Given the description of an element on the screen output the (x, y) to click on. 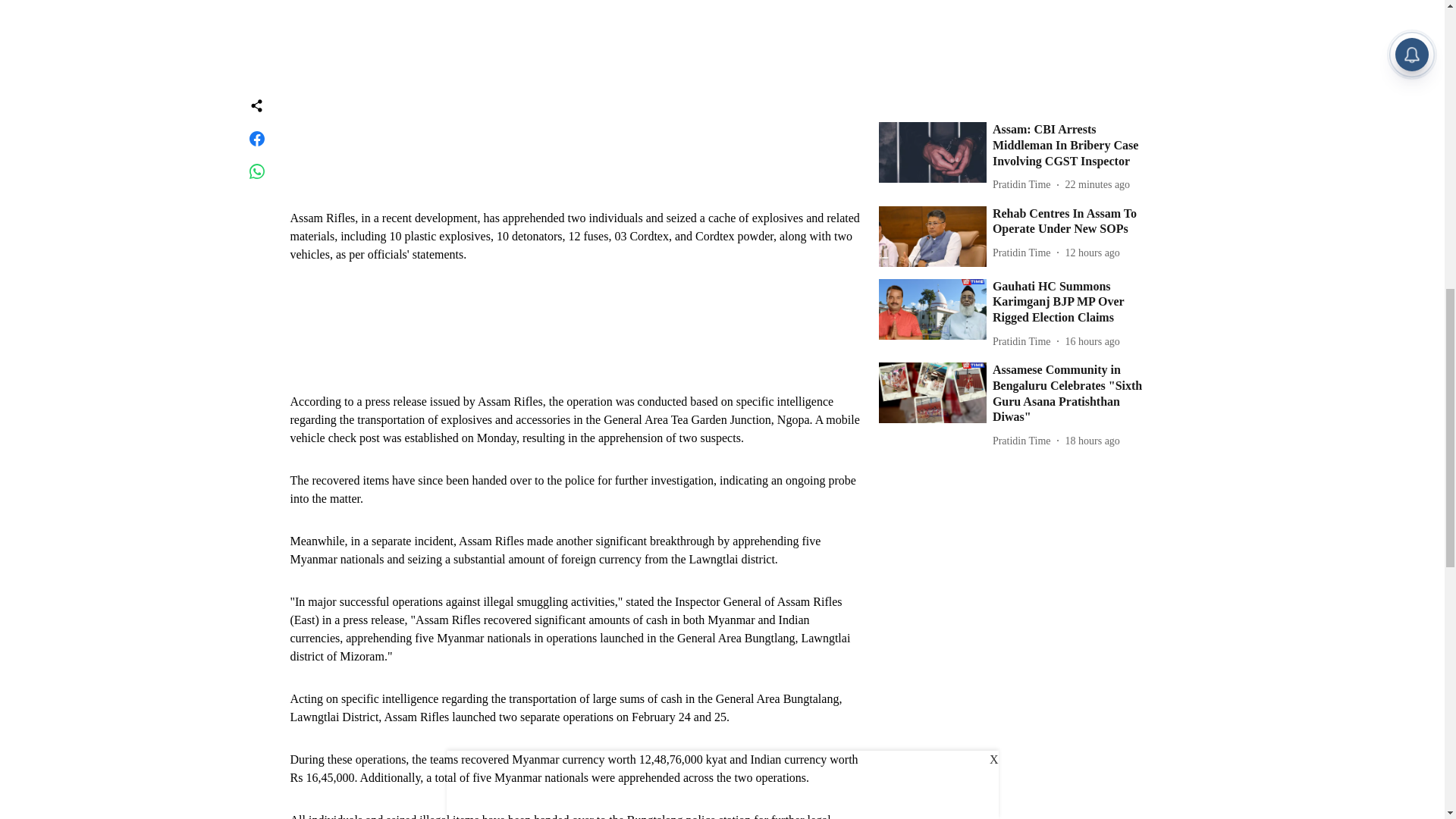
2024-07-22 13:40 (1092, 184)
2024-07-22 12:09 (1092, 283)
2024-07-23 05:34 (1098, 27)
2024-07-22 18:02 (1092, 95)
